Given the description of an element on the screen output the (x, y) to click on. 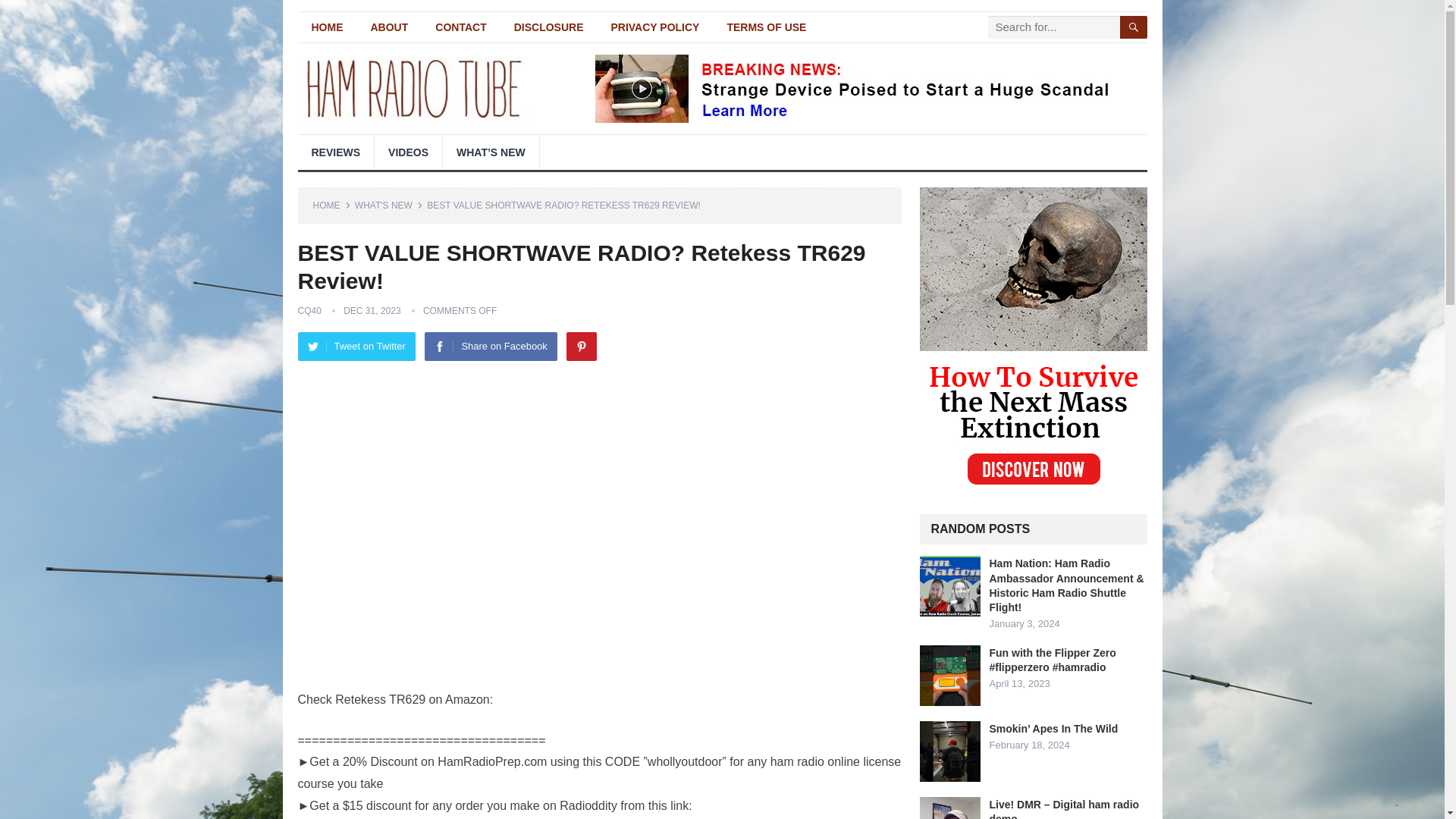
Tweet on Twitter (355, 346)
PRIVACY POLICY (654, 27)
REVIEWS (335, 152)
Live! DMR - Digital ham radio demo 16 (948, 807)
CONTACT (460, 27)
ABOUT (389, 27)
Smokin' Apes In The Wild 15 (948, 751)
WHAT'S NEW (389, 204)
View all posts in What's New (389, 204)
HOME (326, 27)
